Given the description of an element on the screen output the (x, y) to click on. 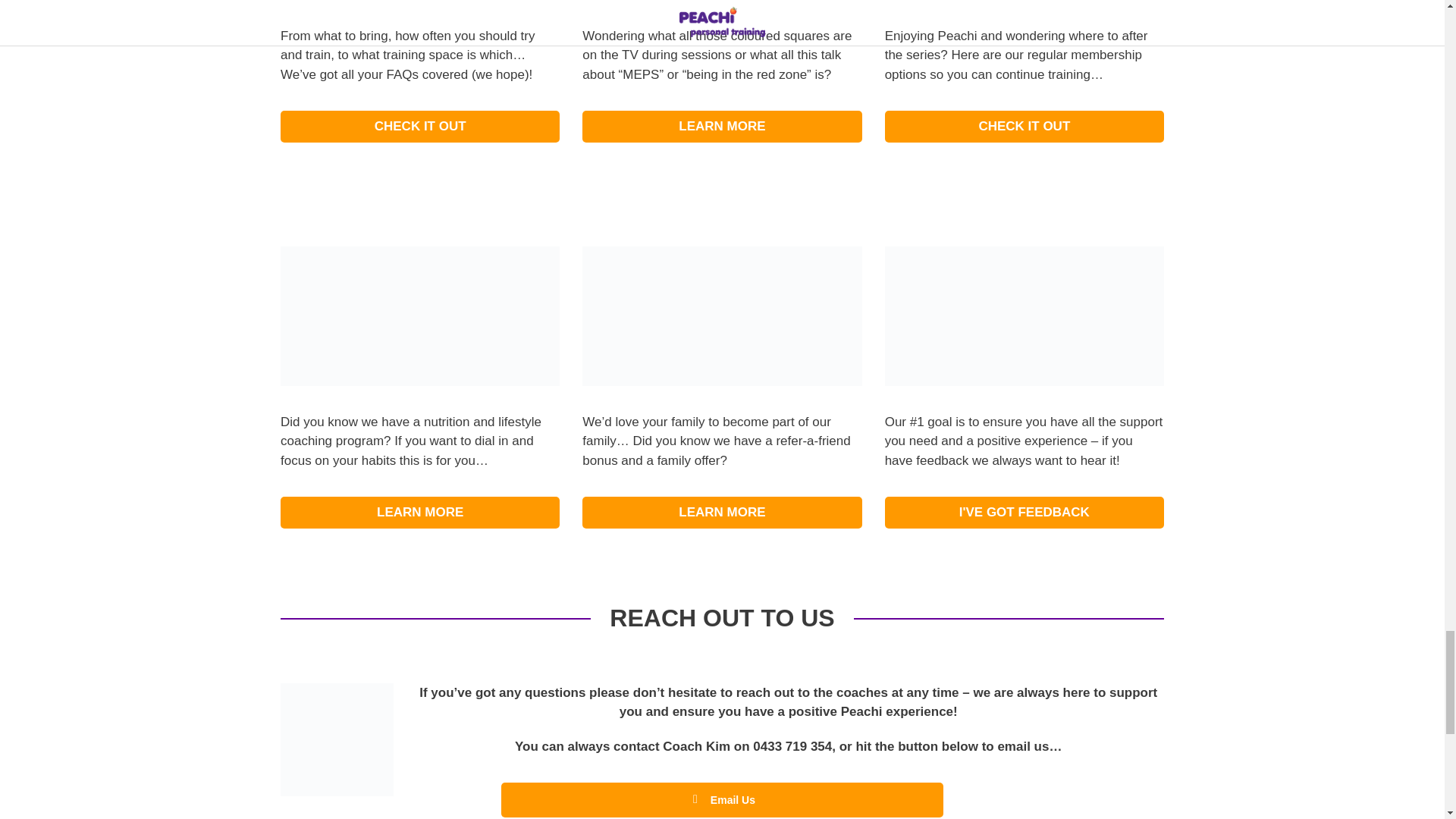
Current Webpage Tiles-10 (1024, 315)
Referring Friends and Family (721, 315)
Nutrition Lifestyle Coaching (420, 315)
